Given the description of an element on the screen output the (x, y) to click on. 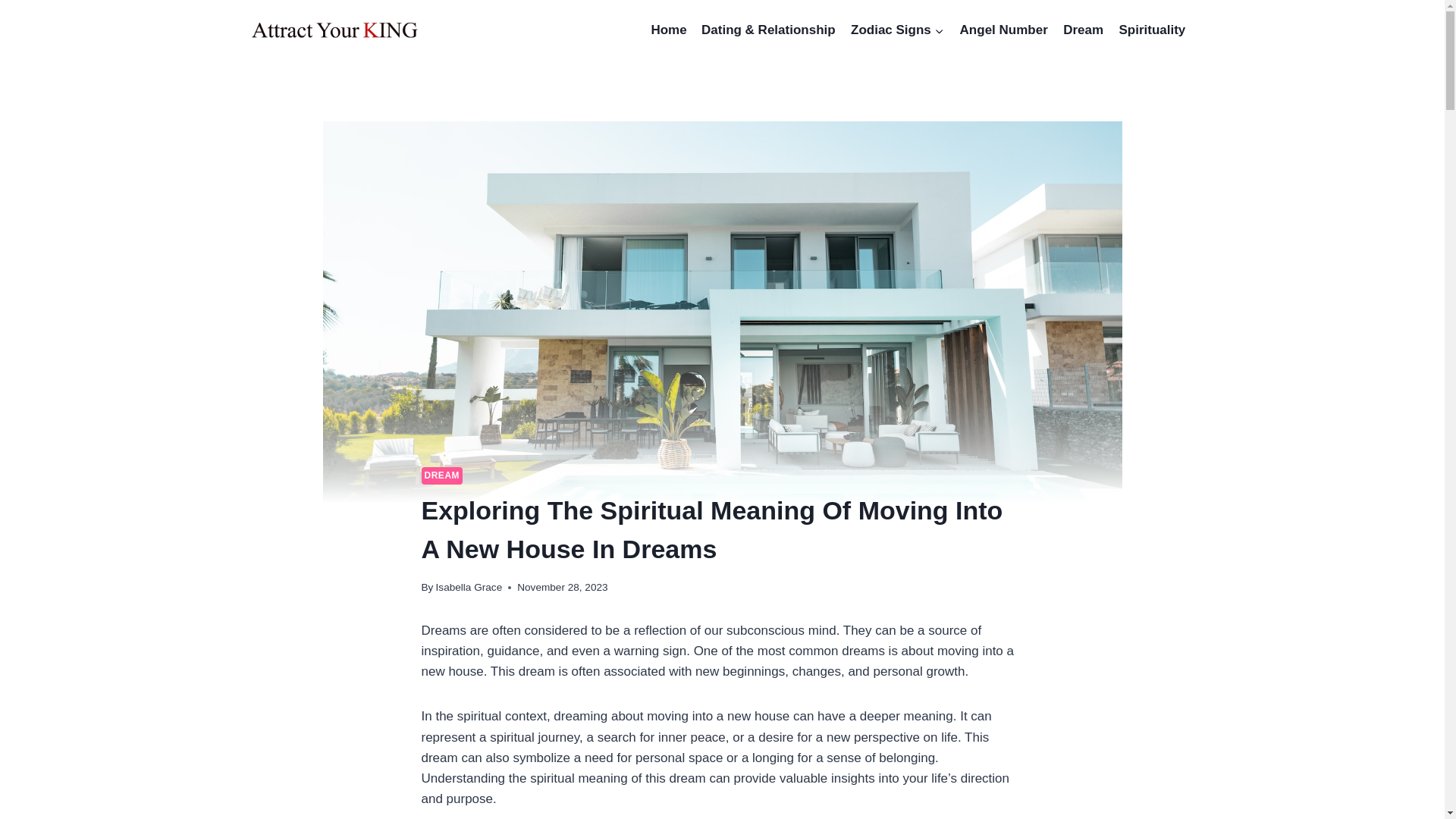
Zodiac Signs (897, 30)
Home (668, 30)
Isabella Grace (468, 586)
Spirituality (1151, 30)
Angel Number (1003, 30)
DREAM (442, 475)
Dream (1082, 30)
